Given the description of an element on the screen output the (x, y) to click on. 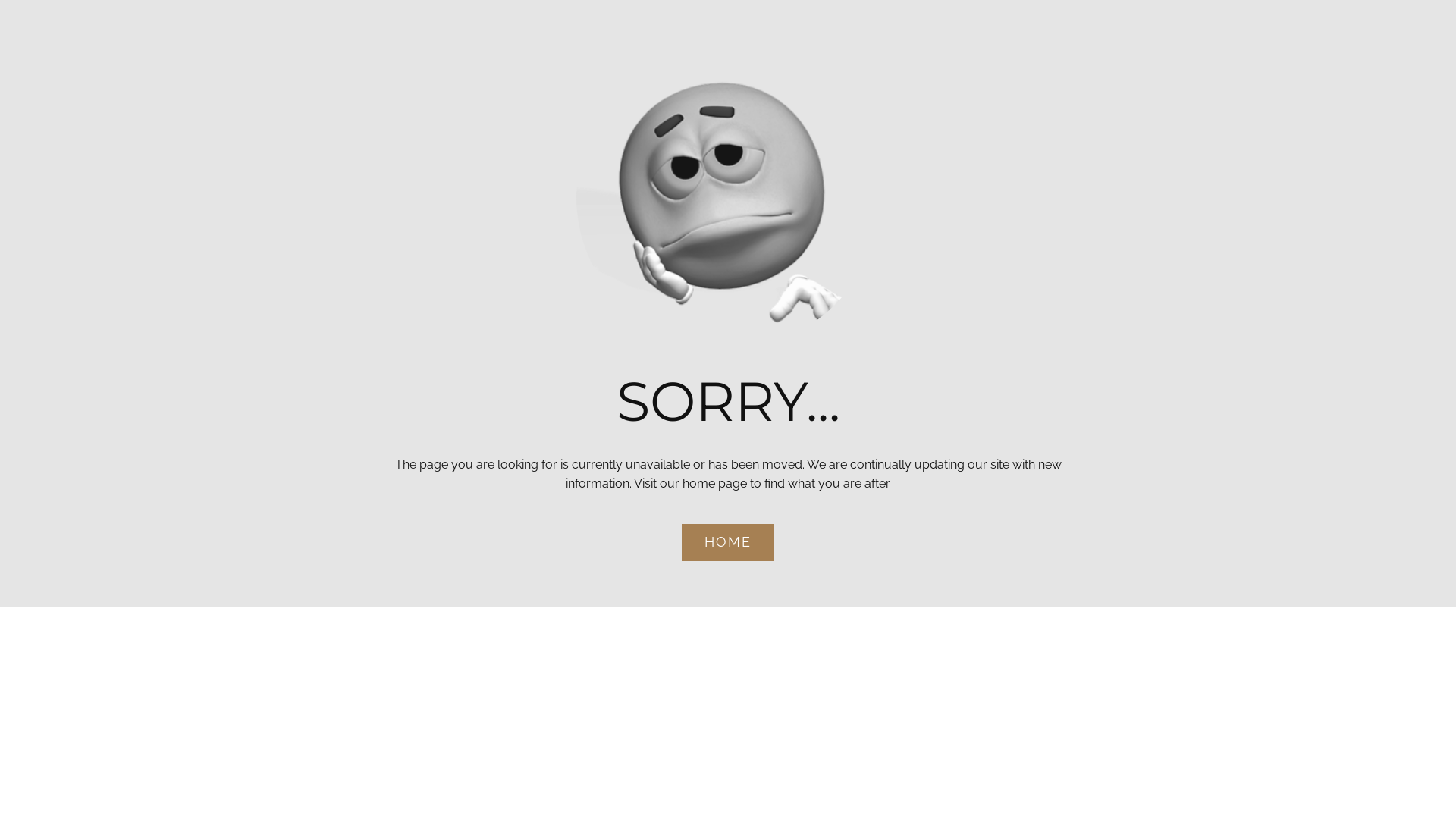
HOME Element type: text (727, 542)
